Given the description of an element on the screen output the (x, y) to click on. 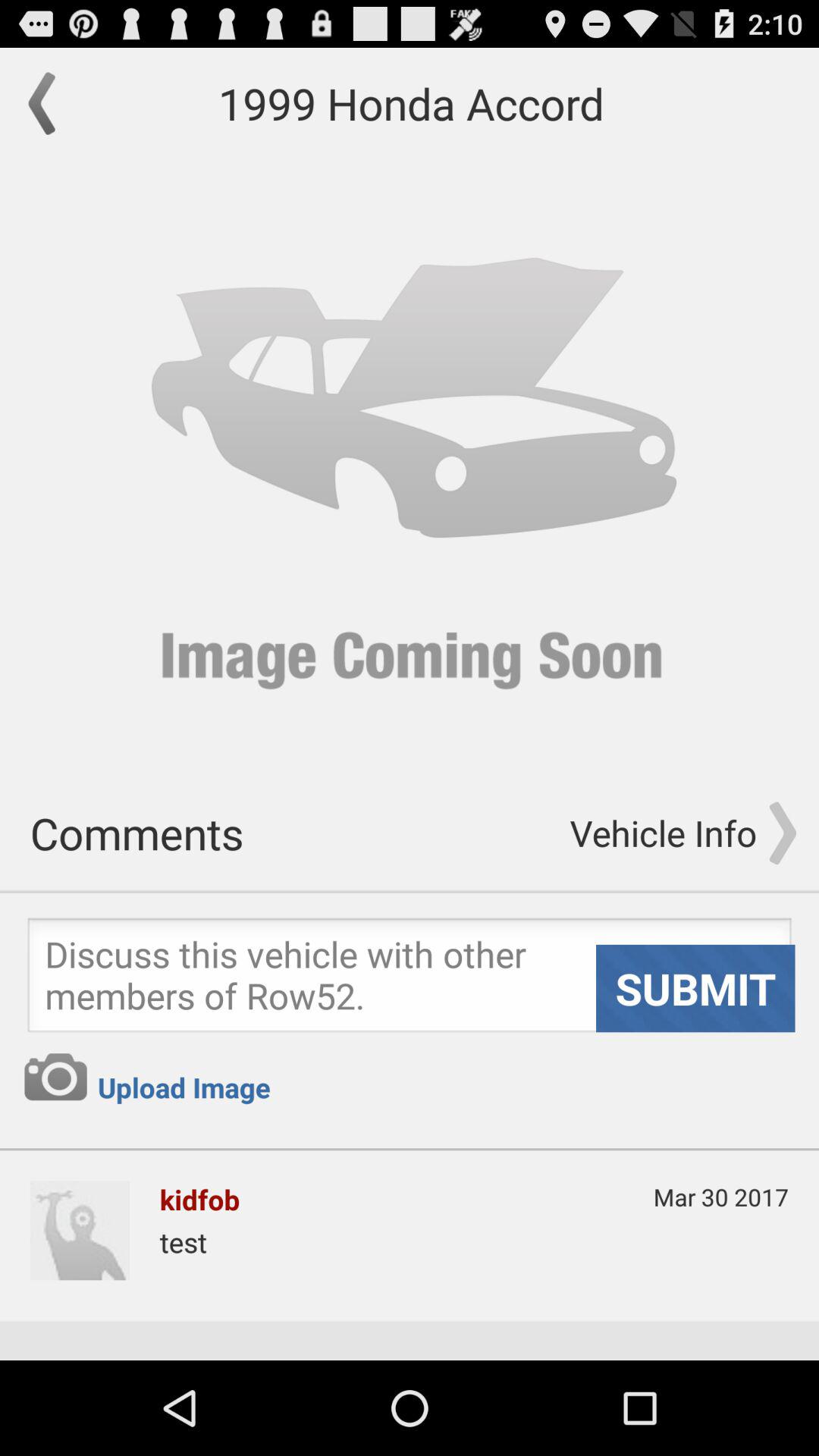
click the icon to upload image (55, 1076)
